Given the description of an element on the screen output the (x, y) to click on. 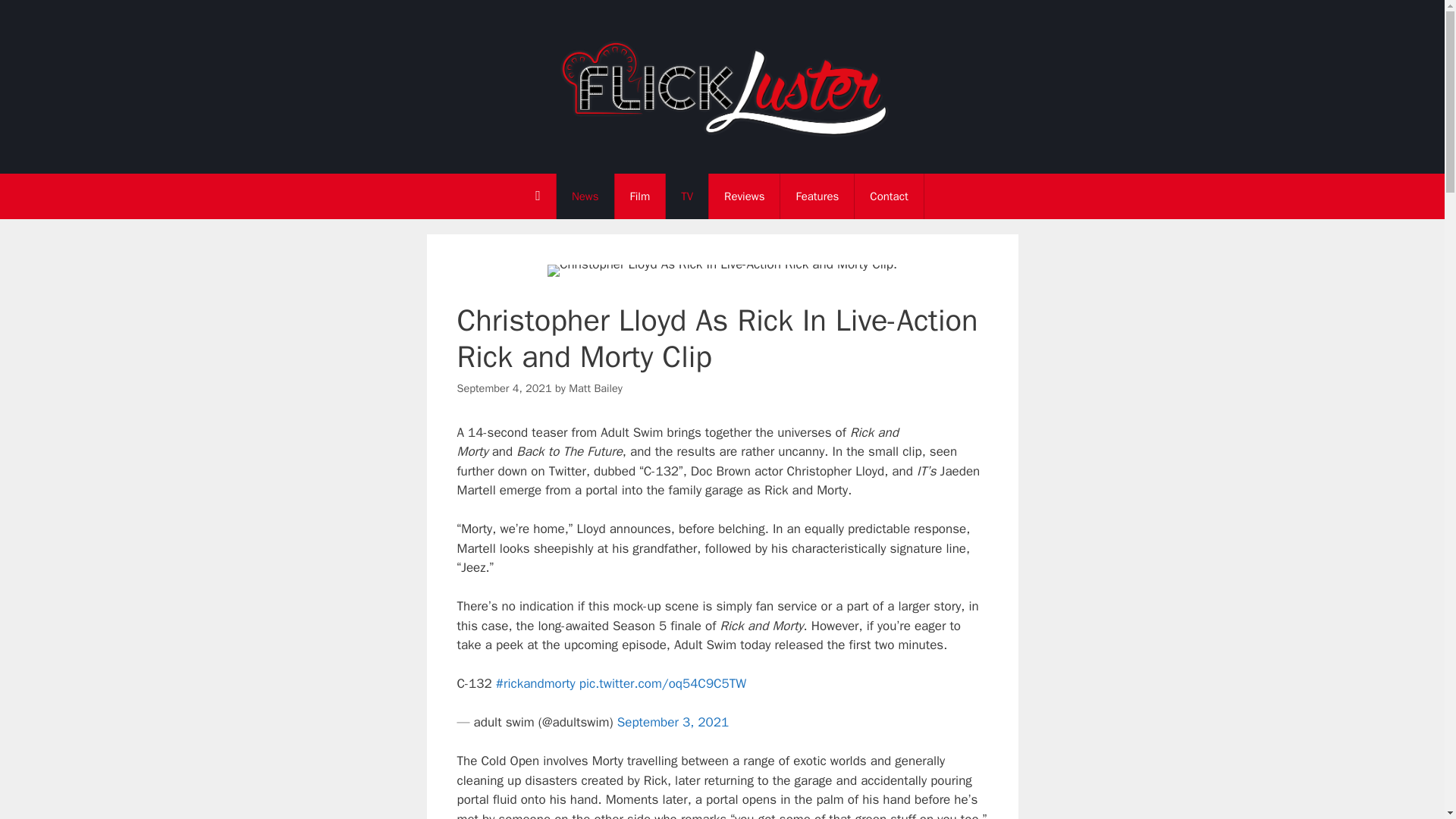
TV (686, 196)
Features (816, 196)
View all posts by Matt Bailey (596, 387)
Contact (888, 196)
News (585, 196)
September 3, 2021 (673, 722)
Film (639, 196)
Reviews (743, 196)
Matt Bailey (596, 387)
